Given the description of an element on the screen output the (x, y) to click on. 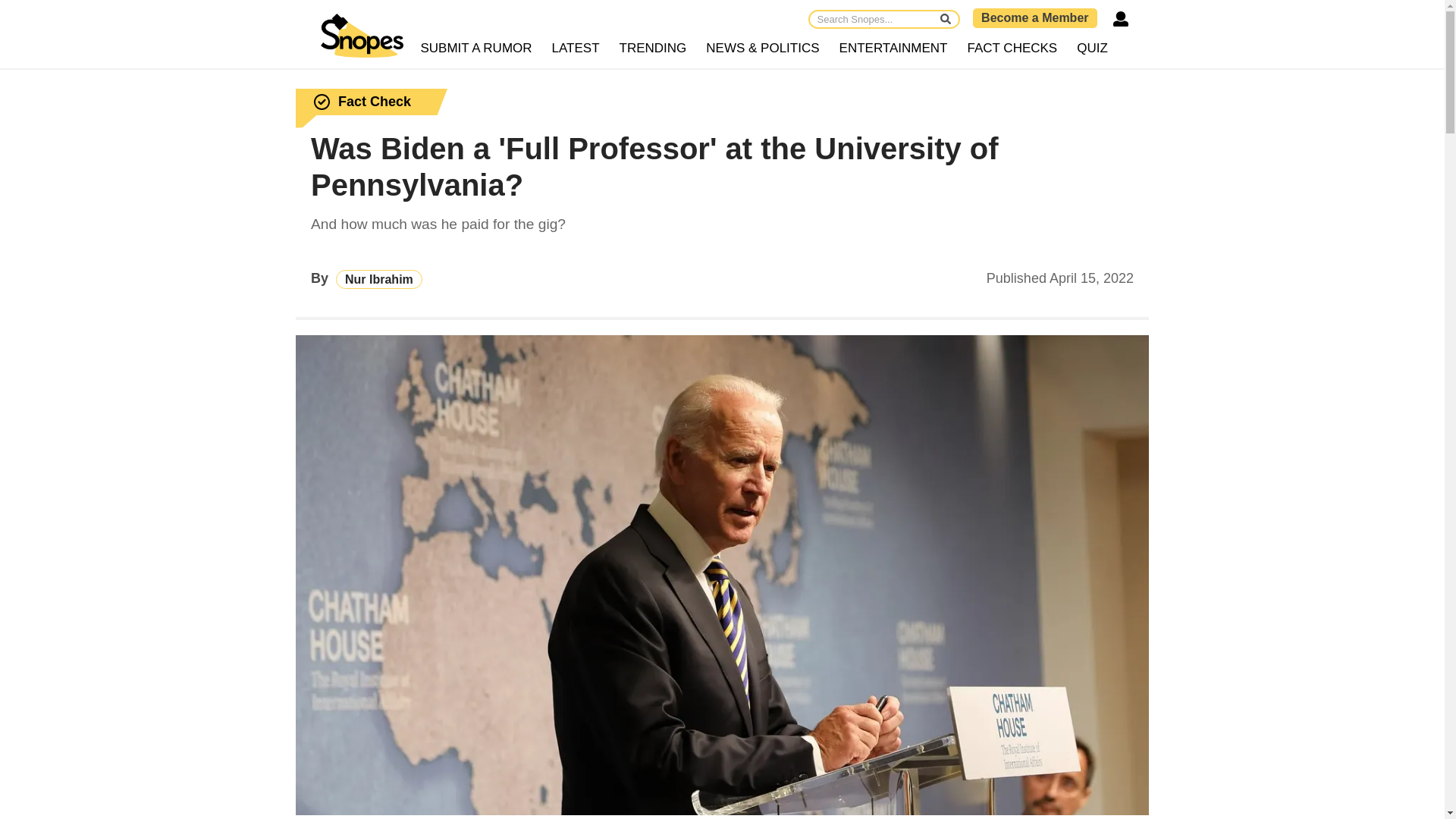
SUBMIT A RUMOR (475, 47)
TRENDING (653, 47)
LATEST (576, 47)
ENTERTAINMENT (893, 47)
FACT CHECKS (1011, 47)
QUIZ (1092, 47)
Nur Ibrahim (379, 279)
Become a Member (1034, 17)
